Given the description of an element on the screen output the (x, y) to click on. 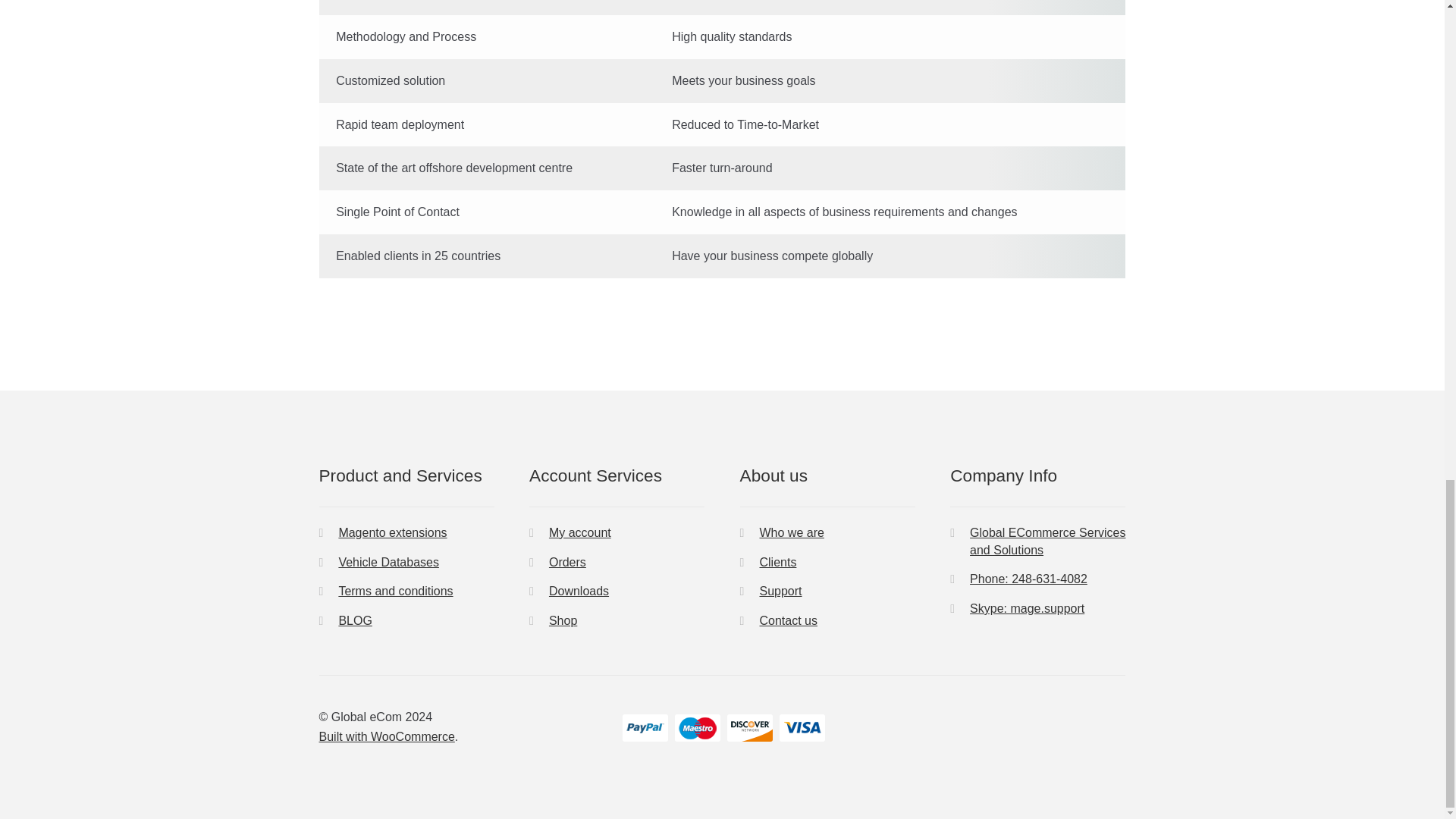
WooCommerce - The Best eCommerce Platform for WordPress (386, 735)
